Given the description of an element on the screen output the (x, y) to click on. 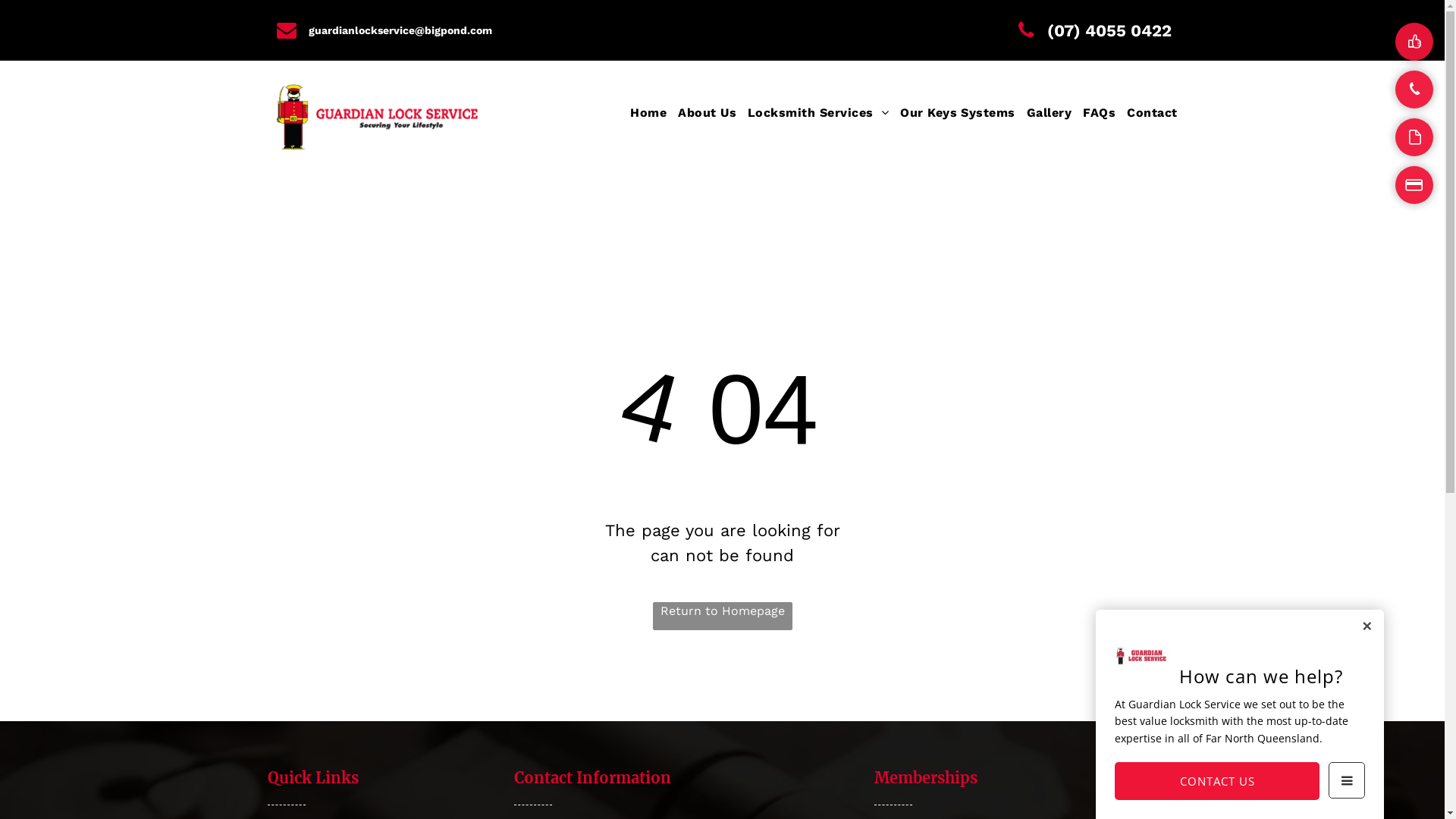
About Us Element type: text (701, 112)
Contact Element type: text (1145, 112)
Guardian Lock Services Element type: hover (376, 114)
Our Keys Systems Element type: text (951, 112)
FAQs Element type: text (1093, 112)
Gallery Element type: text (1043, 112)
Return to Homepage Element type: text (721, 616)
Locksmith Services Element type: text (812, 112)
CONTACT US Element type: text (1216, 781)
(07) 4055 0422 Element type: text (1085, 30)
Home Element type: text (642, 112)
guardianlockservice@bigpond.com Element type: text (388, 30)
